Given the description of an element on the screen output the (x, y) to click on. 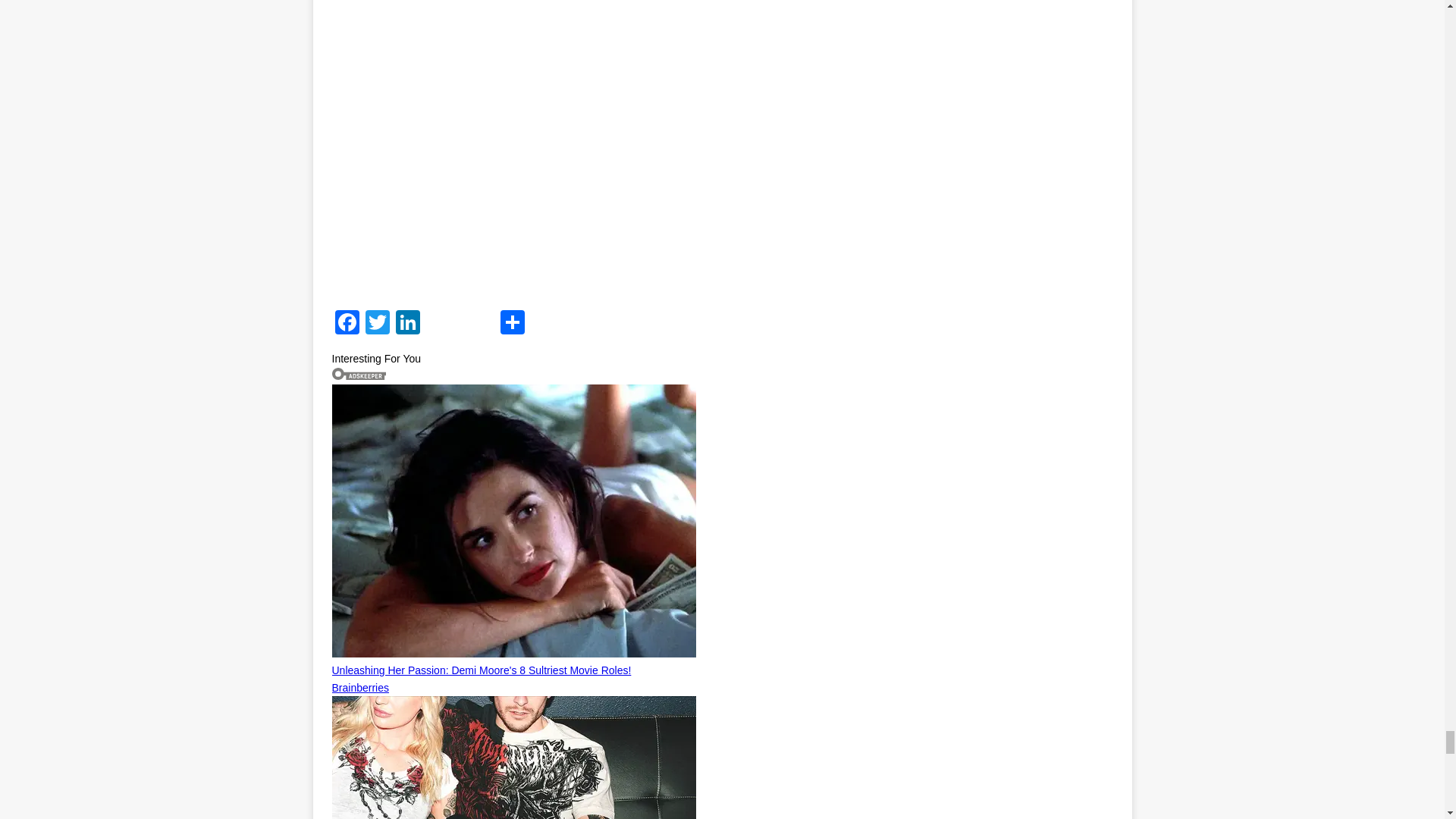
Share (512, 324)
LinkedIn (408, 324)
Facebook (346, 324)
Twitter (377, 324)
Facebook (346, 324)
Twitter (377, 324)
LinkedIn (408, 324)
